Given the description of an element on the screen output the (x, y) to click on. 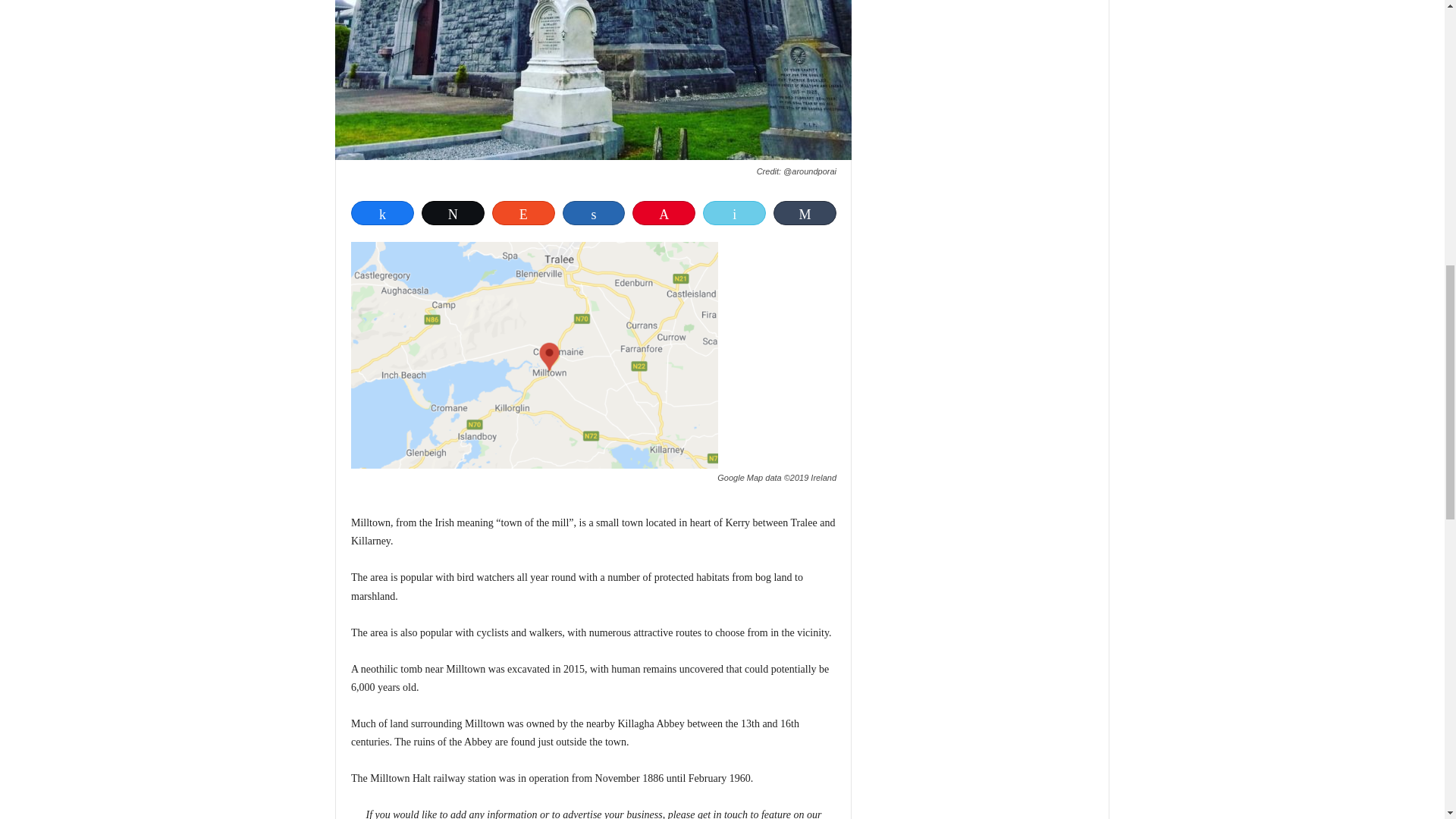
Milltown aroundporai (592, 79)
